Given the description of an element on the screen output the (x, y) to click on. 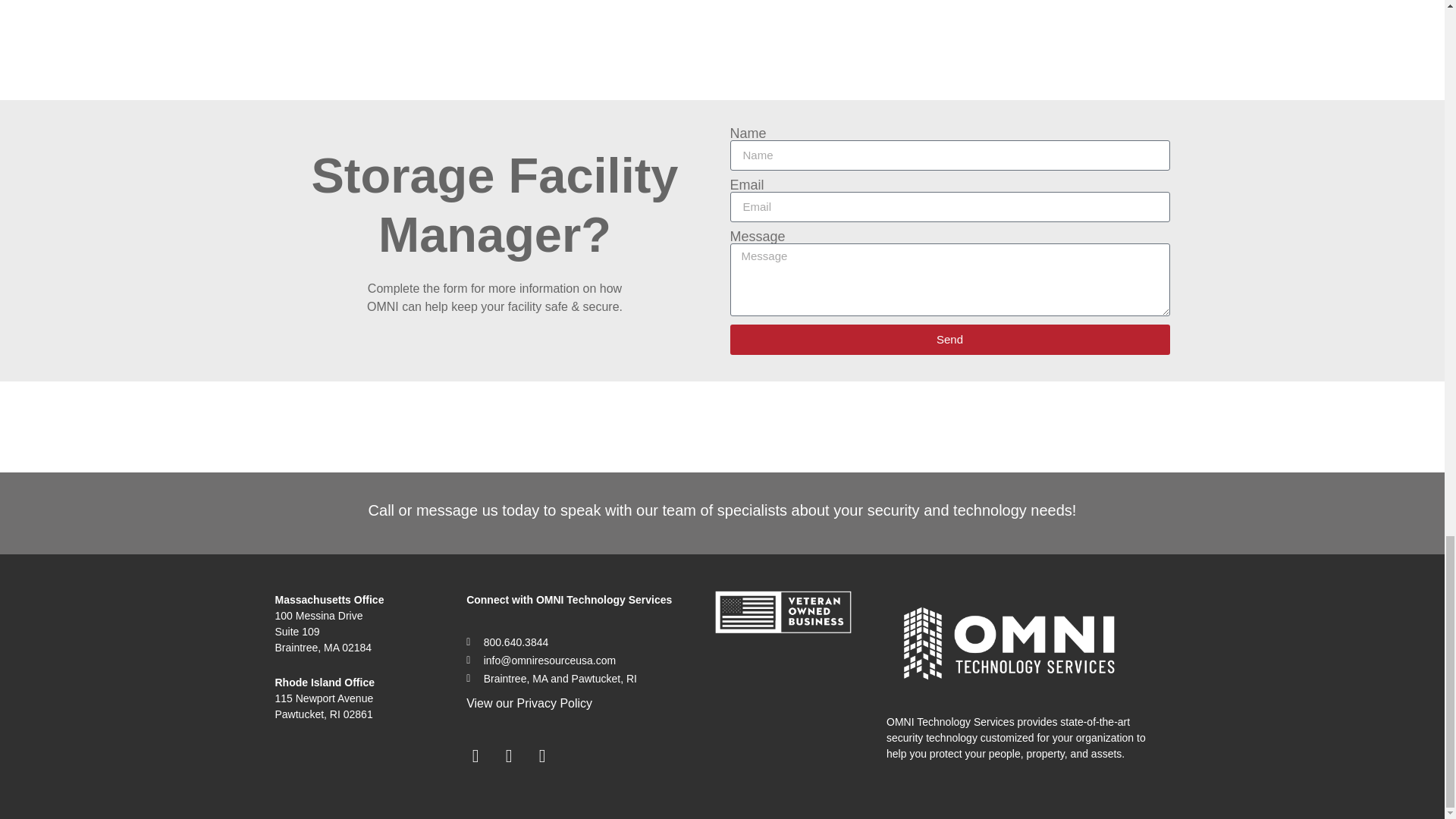
Call (381, 510)
View our Privacy Policy (528, 703)
800.640.3844 (577, 642)
Send (949, 339)
message us (456, 510)
